Given the description of an element on the screen output the (x, y) to click on. 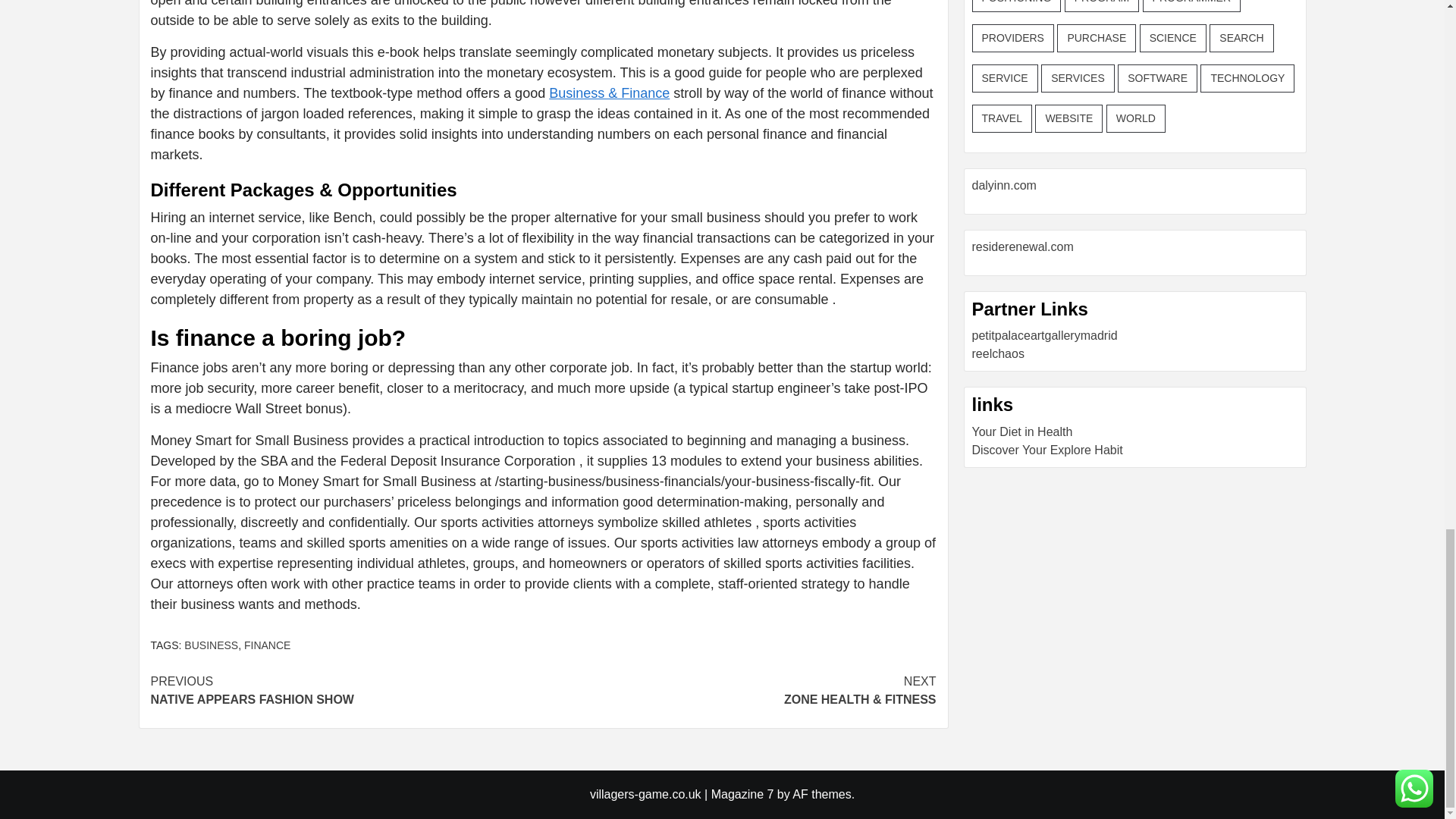
FINANCE (266, 645)
BUSINESS (211, 645)
